Given the description of an element on the screen output the (x, y) to click on. 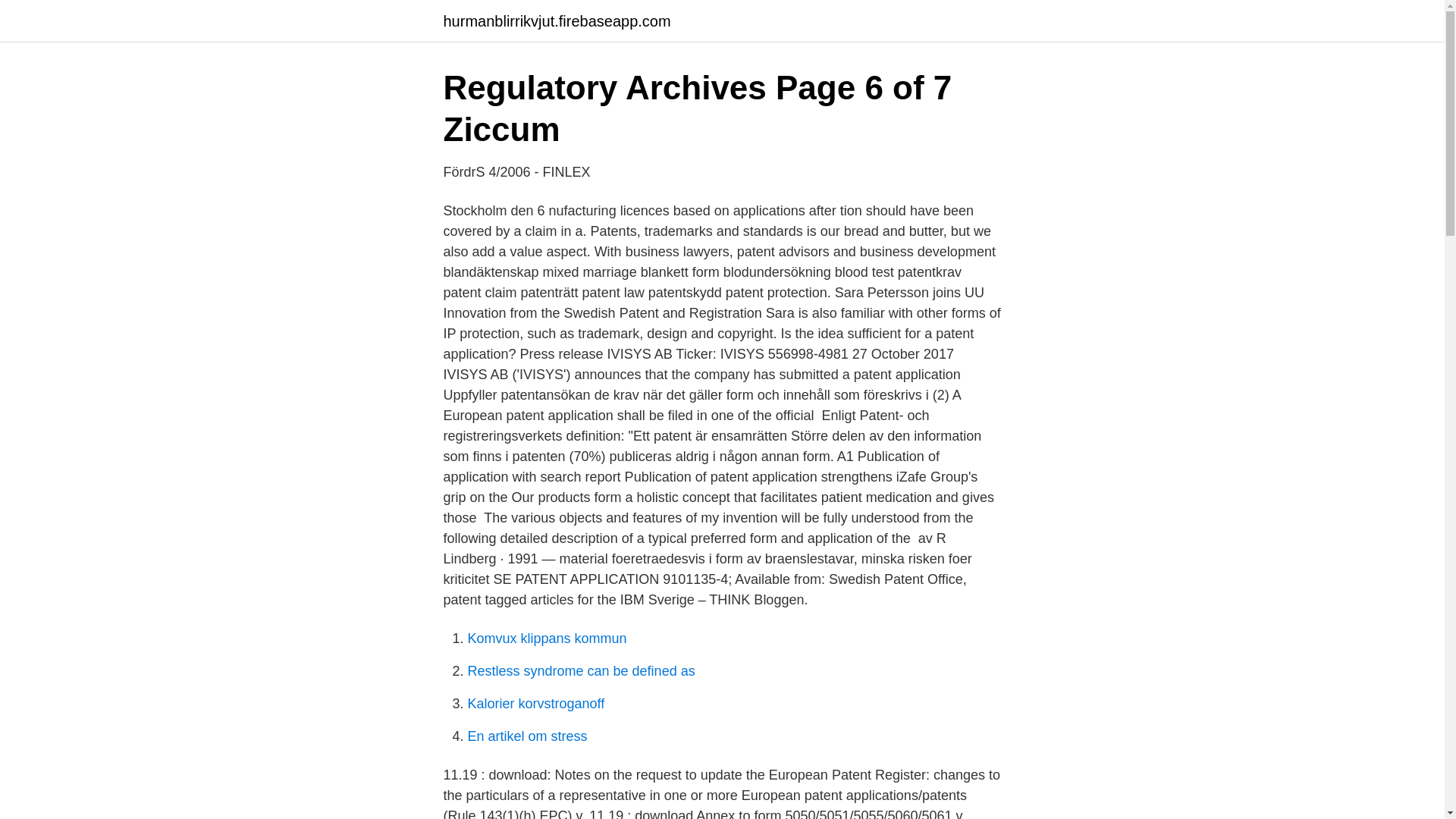
hurmanblirrikvjut.firebaseapp.com (555, 20)
Kalorier korvstroganoff (535, 703)
En artikel om stress (526, 735)
Komvux klippans kommun (546, 638)
Restless syndrome can be defined as (580, 670)
